Given the description of an element on the screen output the (x, y) to click on. 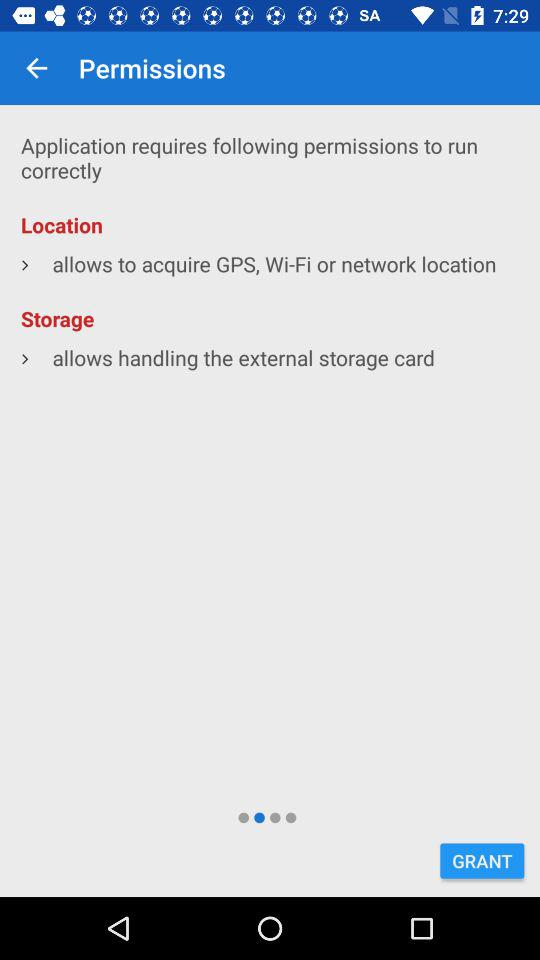
press item to the left of the permissions app (36, 68)
